Given the description of an element on the screen output the (x, y) to click on. 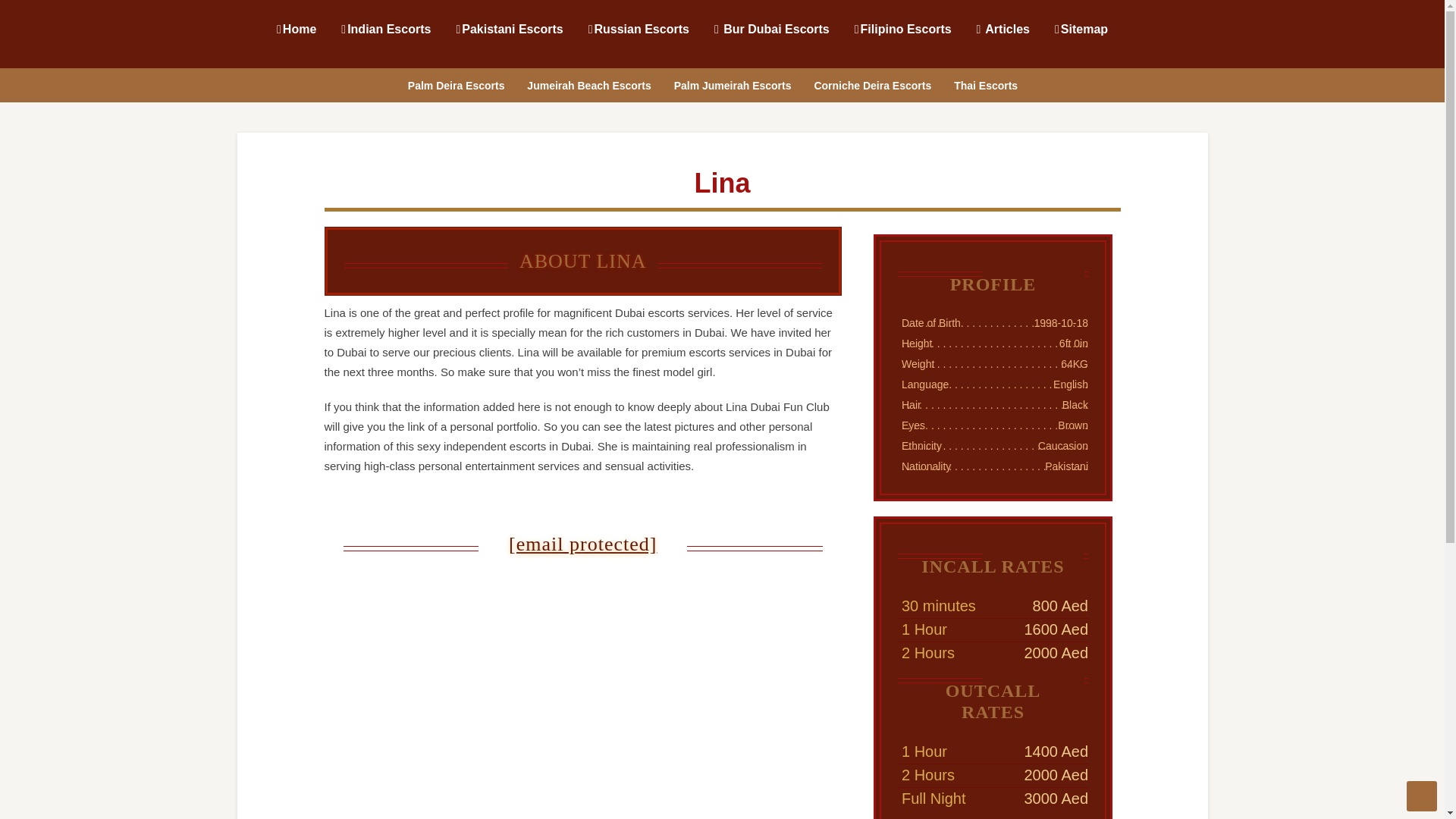
Home (295, 28)
Indian Escorts (384, 28)
Bur Dubai Escorts (770, 28)
Articles (1002, 28)
Palm Deira Escorts (456, 83)
Pakistani Escorts (508, 28)
Palm Jumeirah Escorts (732, 83)
Corniche Deira Escorts (872, 83)
Thai Escorts (985, 83)
Jumeirah Beach Escorts (588, 83)
Filipino Escorts (902, 28)
Sitemap (1079, 28)
Russian Escorts (637, 28)
